Given the description of an element on the screen output the (x, y) to click on. 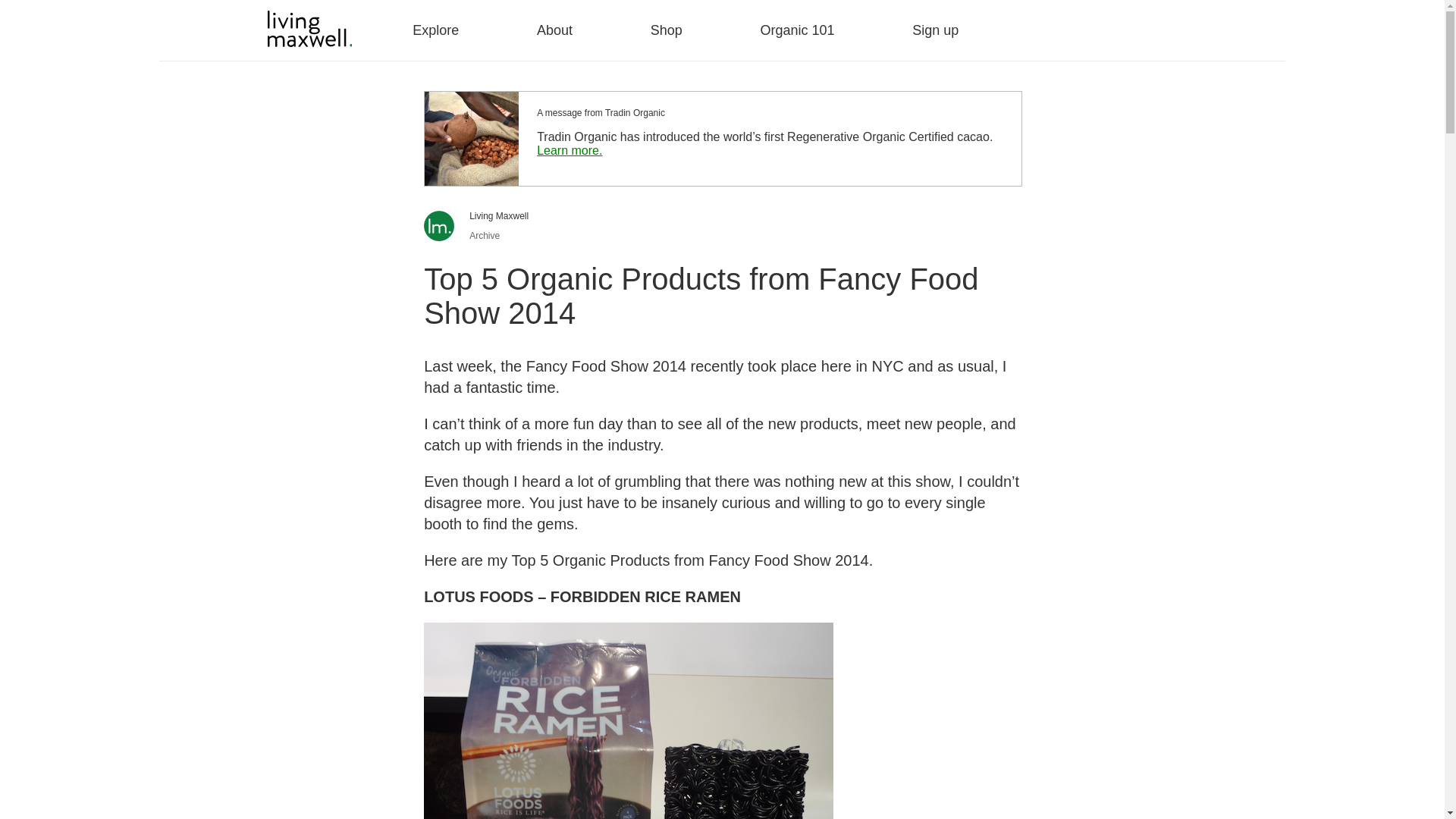
Shop (666, 29)
Sign up (935, 29)
Organic 101 (797, 29)
Learn more. (569, 150)
Explore (435, 29)
About (554, 29)
